Given the description of an element on the screen output the (x, y) to click on. 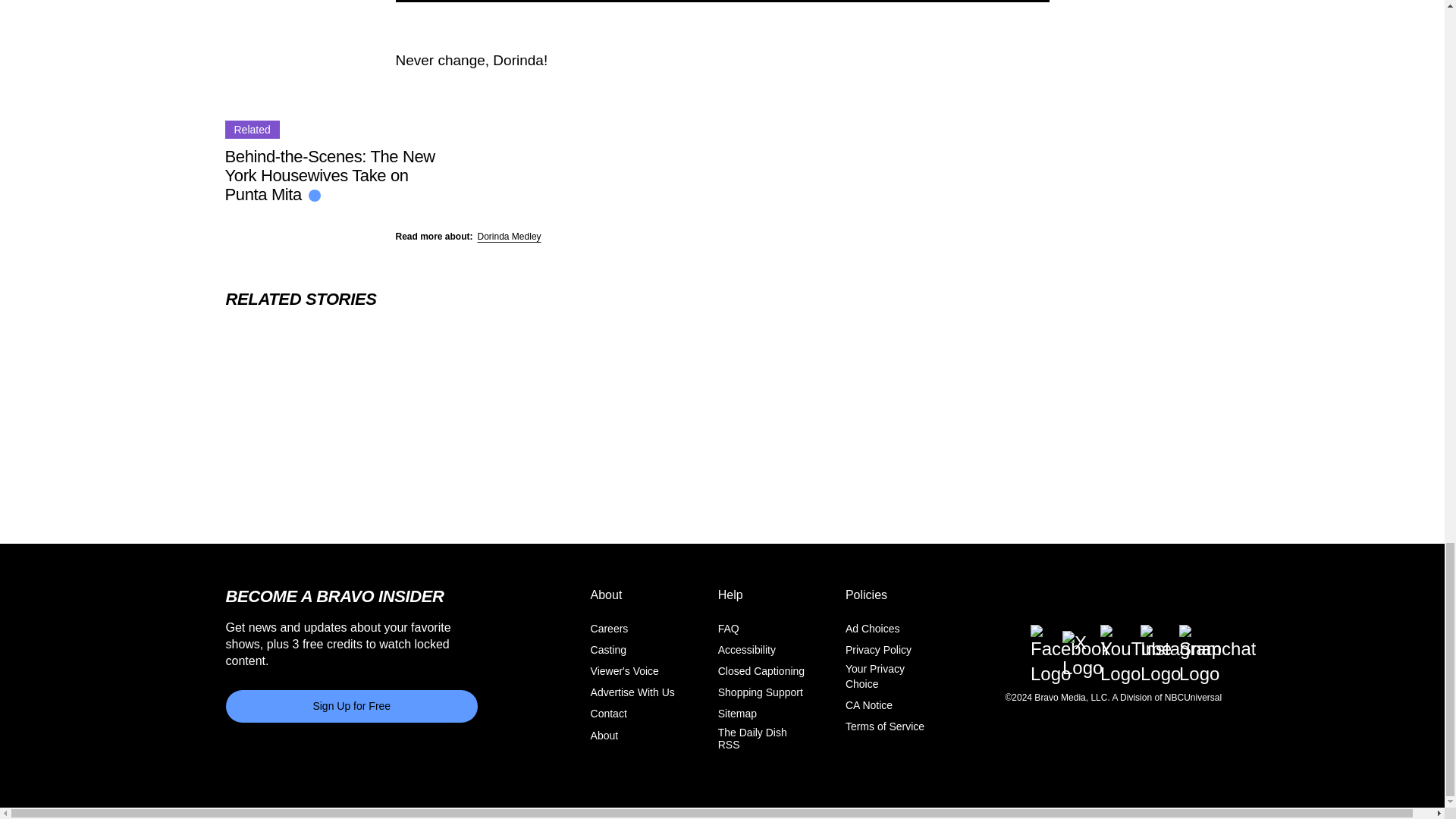
Dorinda Medley (509, 235)
Advertise With Us (633, 693)
